Given the description of an element on the screen output the (x, y) to click on. 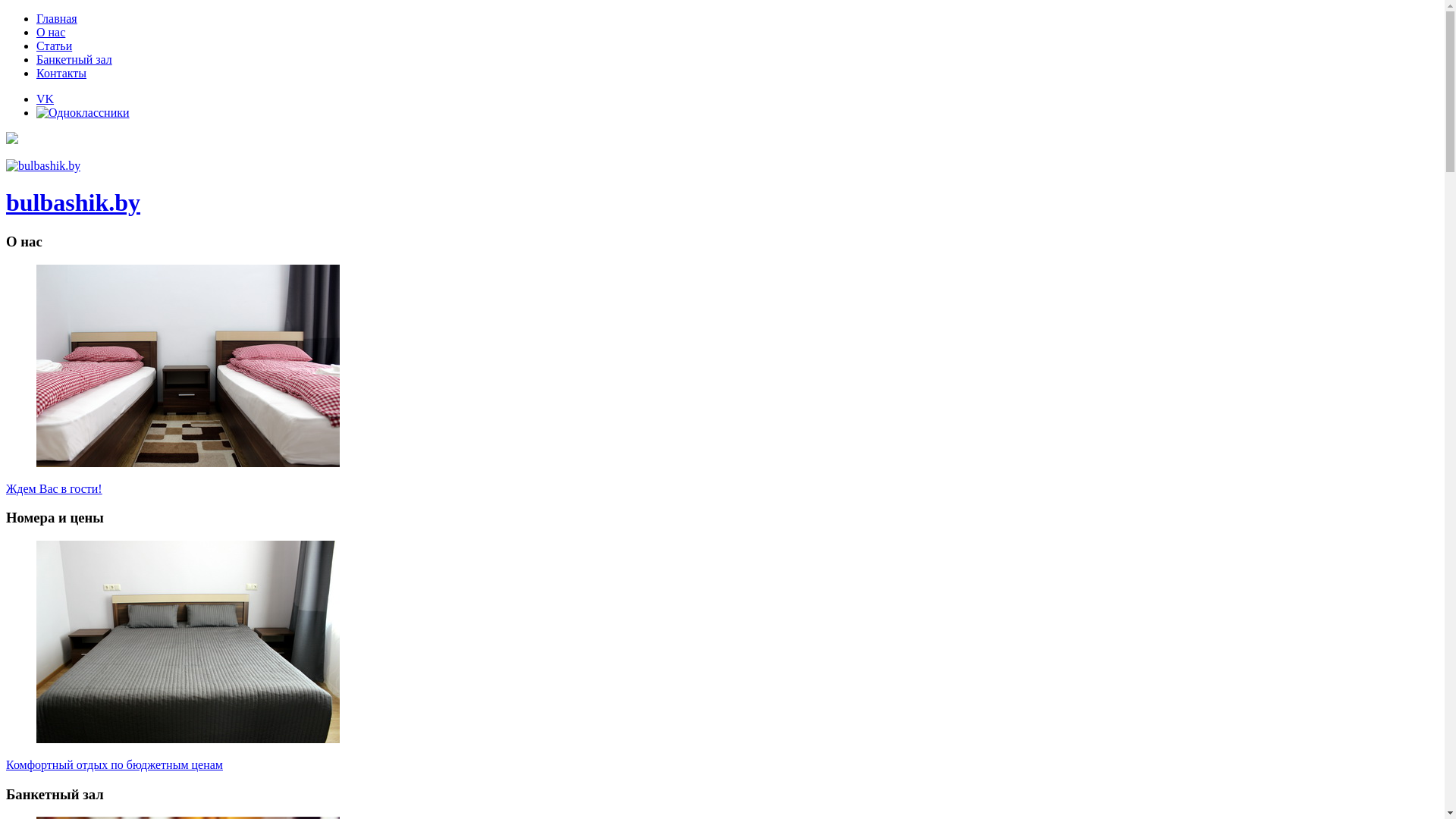
VK Element type: text (44, 98)
bulbashik.by Element type: text (722, 187)
